Given the description of an element on the screen output the (x, y) to click on. 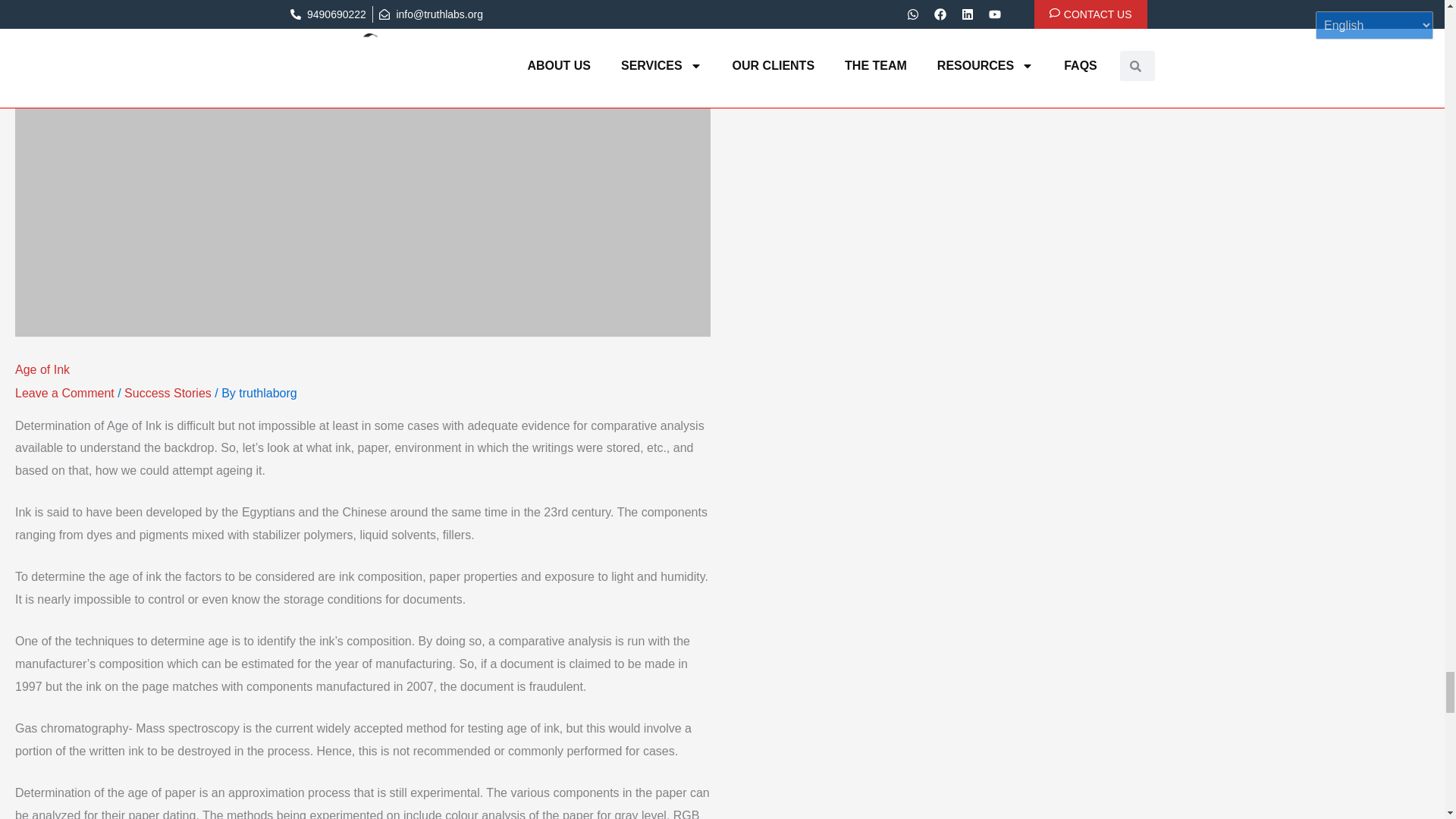
View all posts by truthlaborg (267, 392)
